Given the description of an element on the screen output the (x, y) to click on. 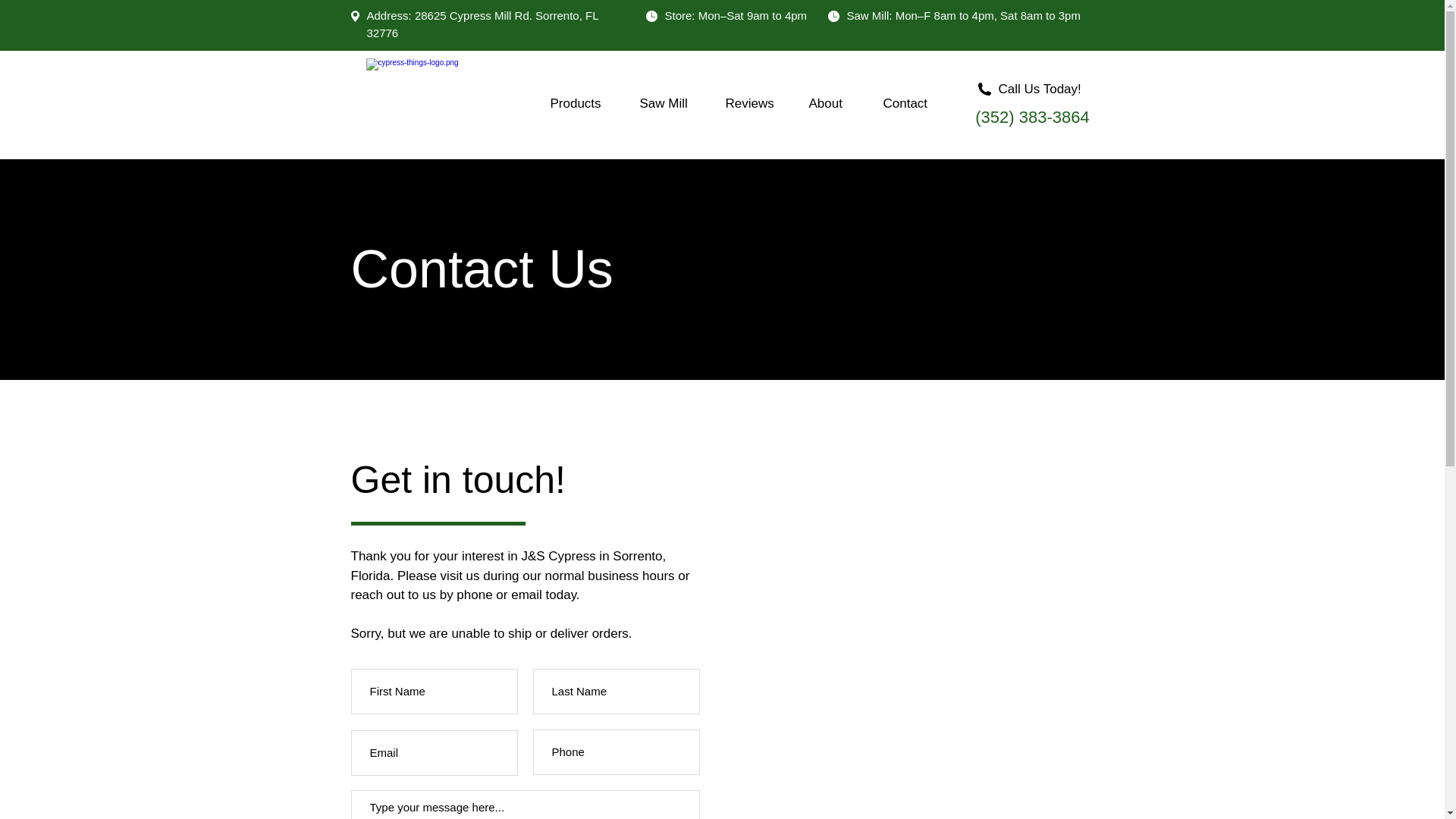
Reviews (755, 103)
28625 Cypress Mill Rd. Sorrento, FL 32776 (482, 24)
About (834, 103)
Saw Mill (670, 103)
Contact (914, 103)
